Given the description of an element on the screen output the (x, y) to click on. 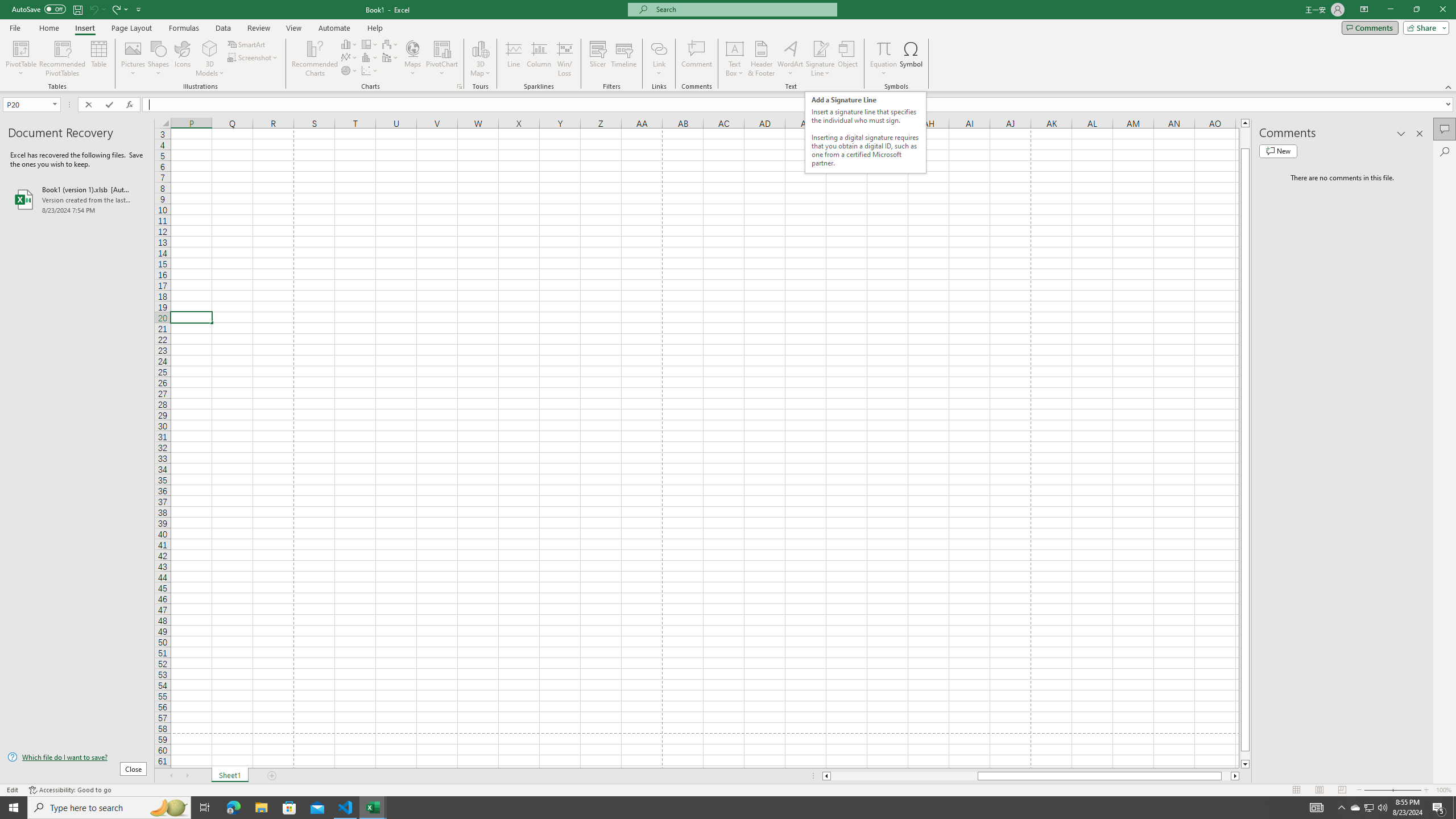
3D Models (210, 58)
Insert Pie or Doughnut Chart (349, 69)
Recommended Charts (459, 85)
Text Box (734, 58)
Insert Line or Area Chart (349, 56)
